Given the description of an element on the screen output the (x, y) to click on. 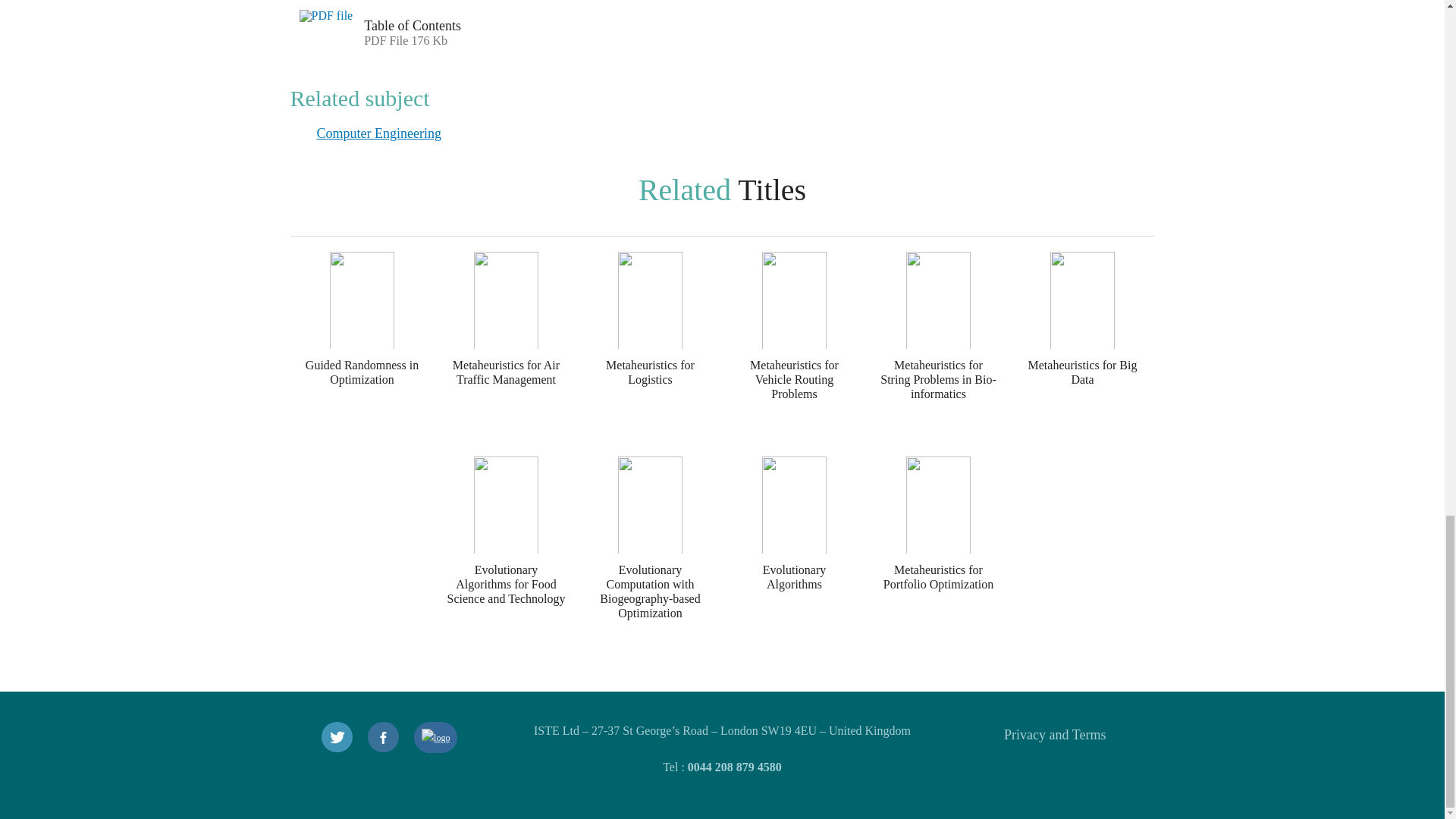
Metaheuristics for Big Data (1082, 353)
Evolutionary Algorithms (793, 558)
Metaheuristics for Air Traffic Management (505, 353)
Metaheuristics for Portfolio Optimization (938, 558)
Computer Engineering (379, 133)
Download PDF file (326, 28)
Metaheuristics for String Problems in Bio-informatics (938, 353)
Guided Randomness in Optimization (361, 353)
Evolutionary Algorithms for Food Science and Technology (505, 558)
Metaheuristics for Vehicle Routing Problems (793, 353)
Privacy and Terms (1054, 734)
Metaheuristics for Logistics (649, 353)
